Given the description of an element on the screen output the (x, y) to click on. 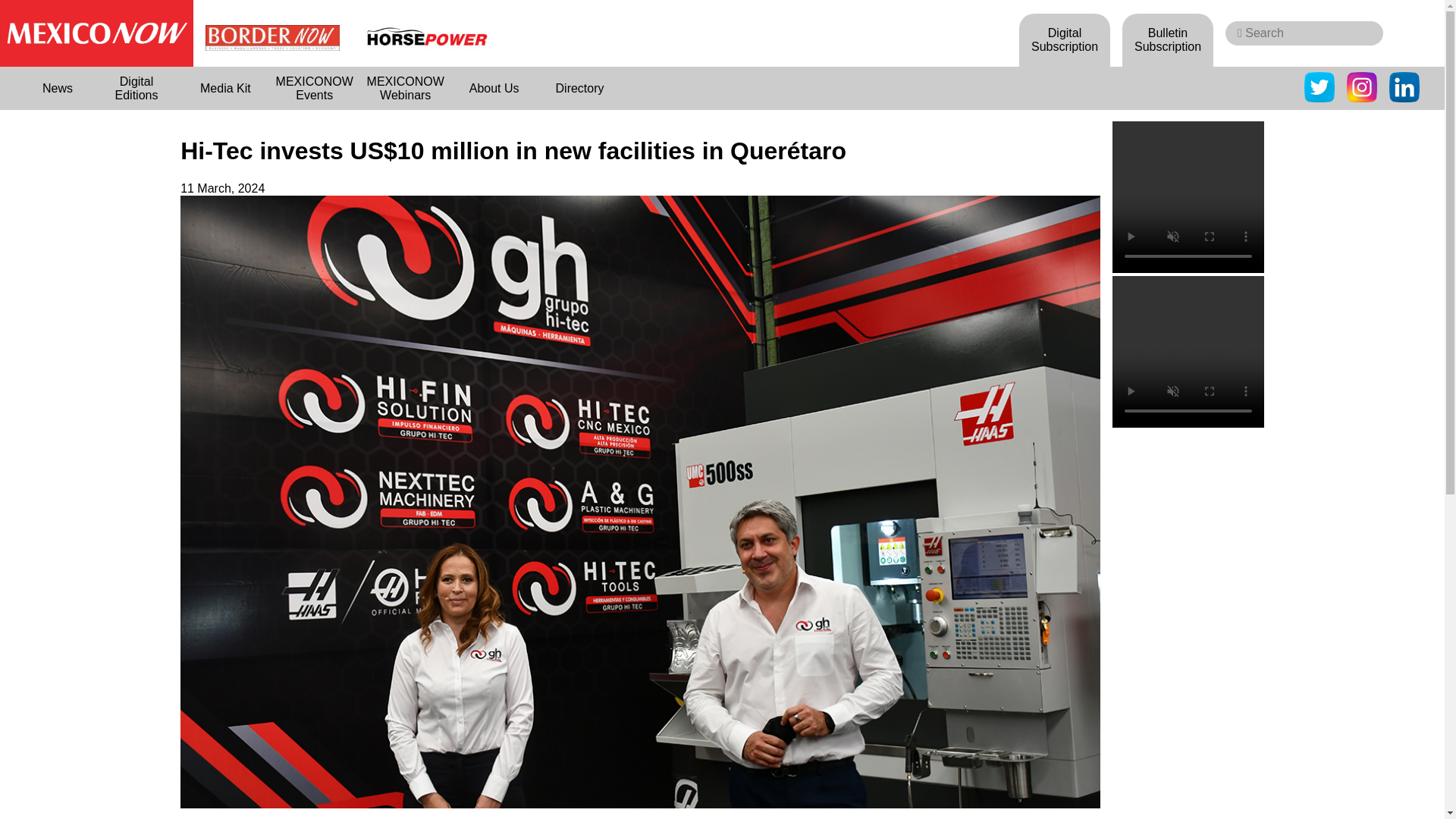
Bulletin Subscription (1167, 39)
MEXICONOW Webinars (405, 87)
About Us (494, 87)
MEXICONOW Events (314, 87)
Digital Subscription (1064, 39)
Directory (580, 87)
News (57, 87)
Media Kit (225, 87)
Digital Editions (136, 87)
